Given the description of an element on the screen output the (x, y) to click on. 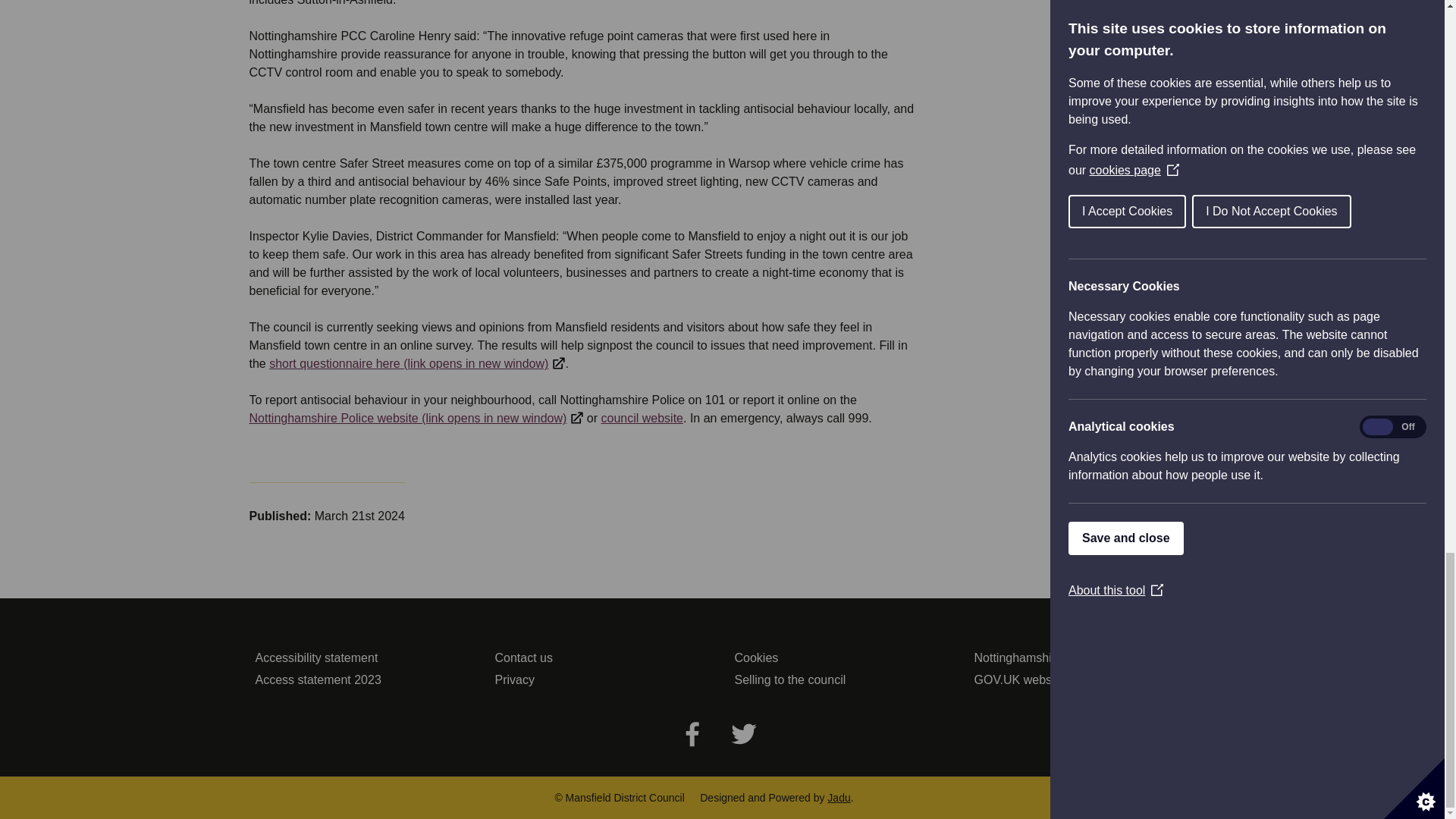
Twitter (743, 733)
Facebook (691, 733)
